Given the description of an element on the screen output the (x, y) to click on. 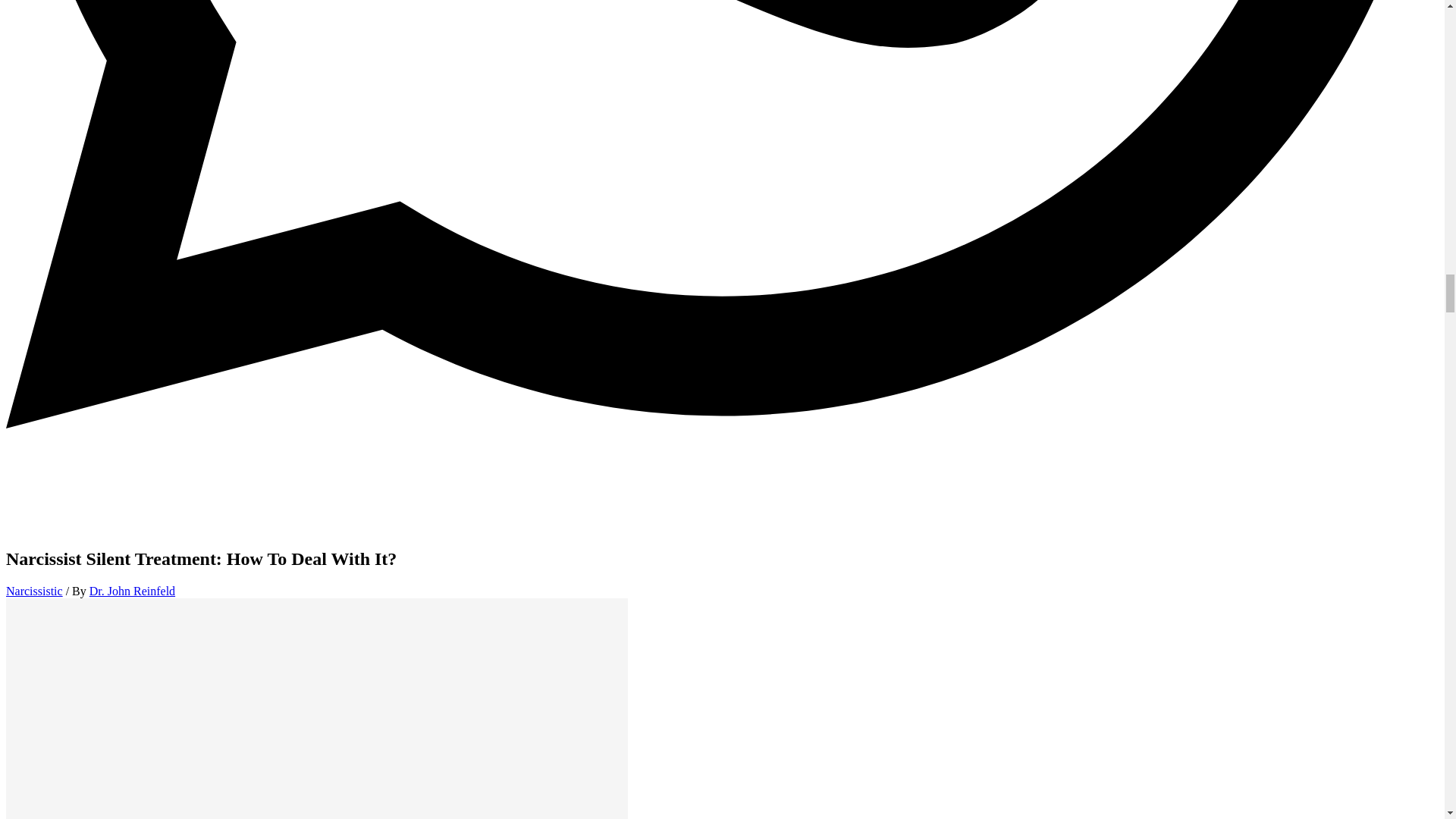
View all posts by Dr. John Reinfeld (131, 590)
